Given the description of an element on the screen output the (x, y) to click on. 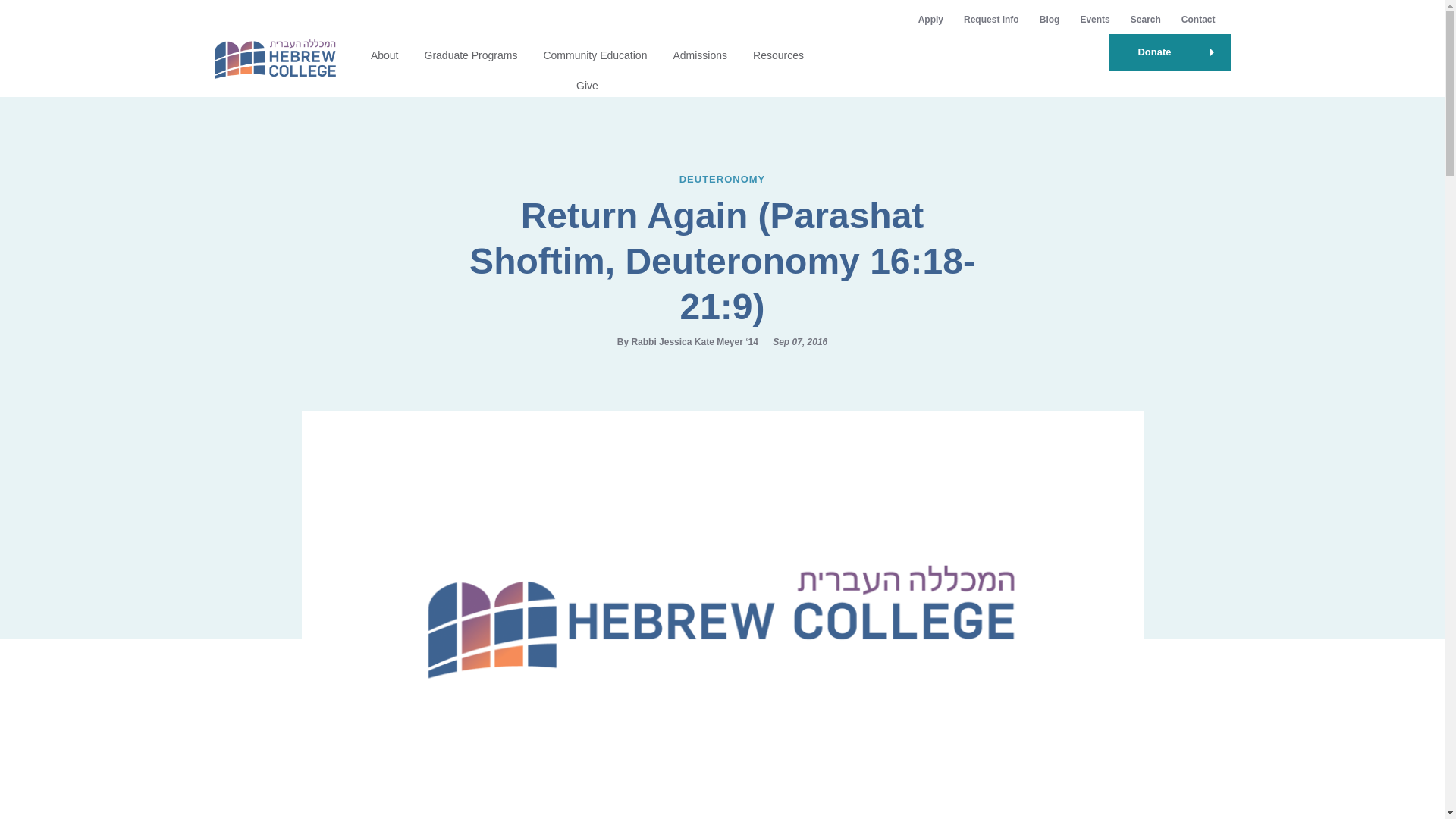
About (385, 55)
Community Education (594, 55)
Donate (1169, 52)
Graduate Programs (471, 55)
